Given the description of an element on the screen output the (x, y) to click on. 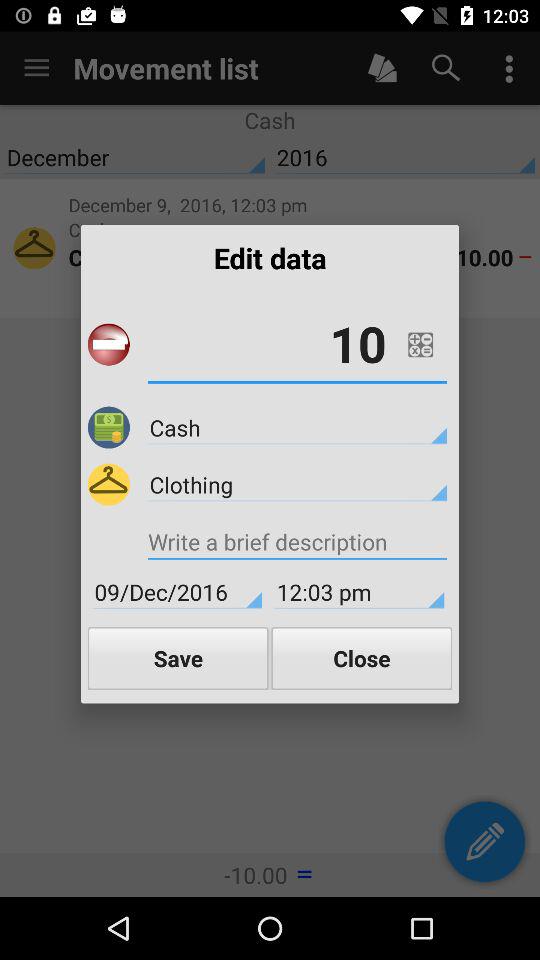
text box to write a description (297, 544)
